Given the description of an element on the screen output the (x, y) to click on. 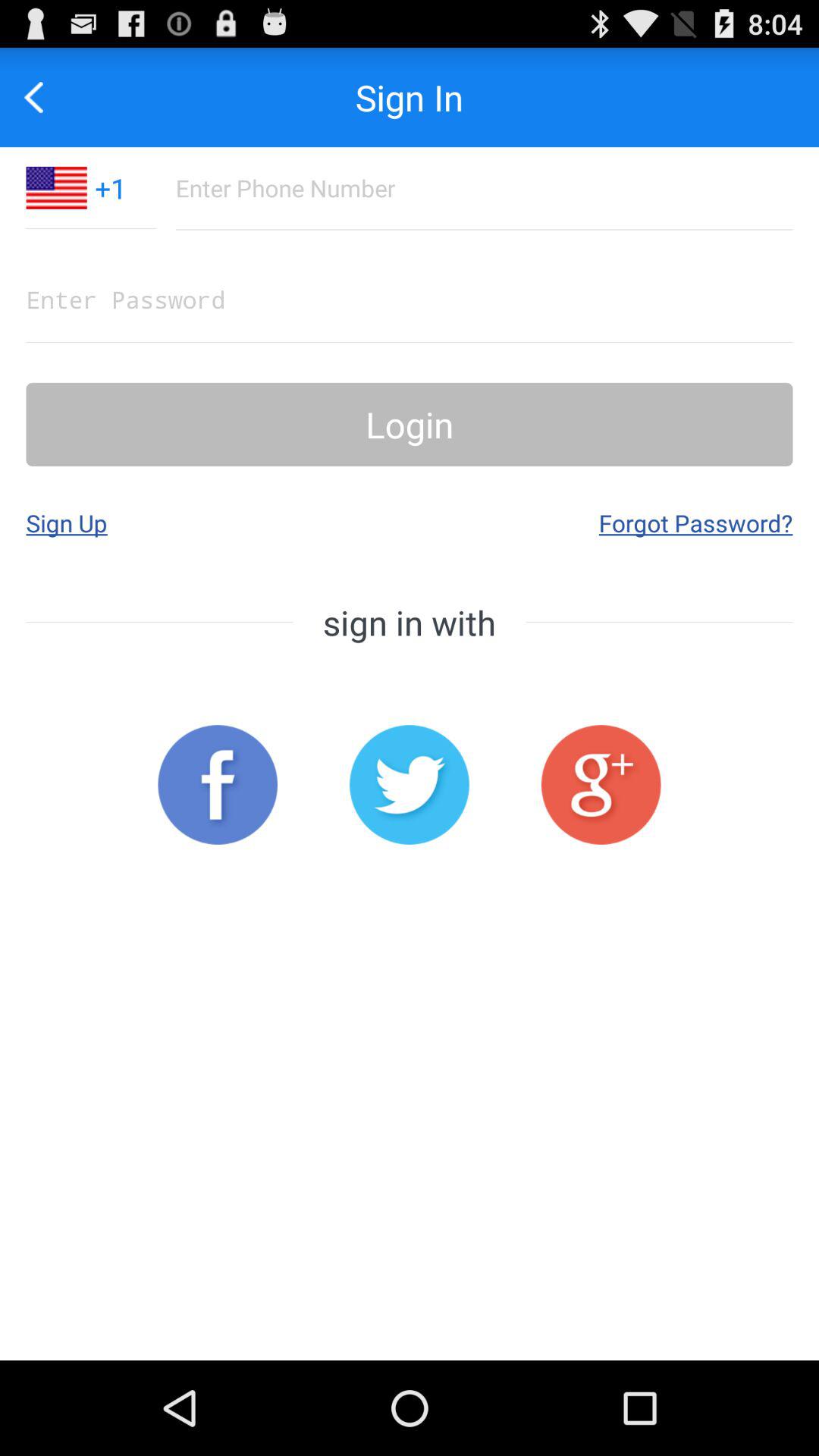
sign in with twitter (409, 784)
